Given the description of an element on the screen output the (x, y) to click on. 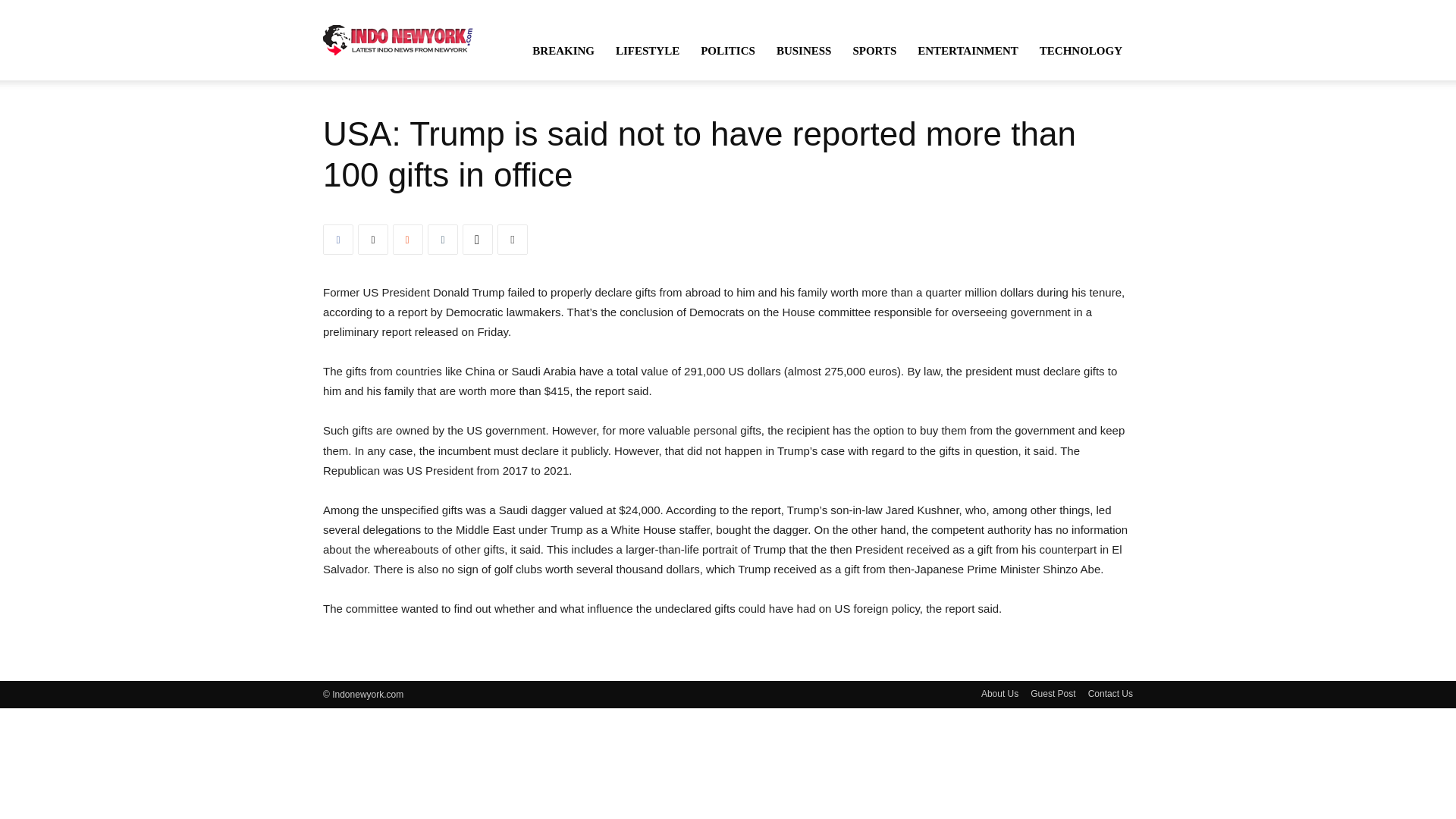
Guest Post (1052, 694)
LIFESTYLE (647, 50)
Contact Us (1109, 694)
BREAKING (563, 50)
Mix (408, 239)
SPORTS (874, 50)
POLITICS (727, 50)
BUSINESS (804, 50)
Digg (478, 239)
Print (512, 239)
